Given the description of an element on the screen output the (x, y) to click on. 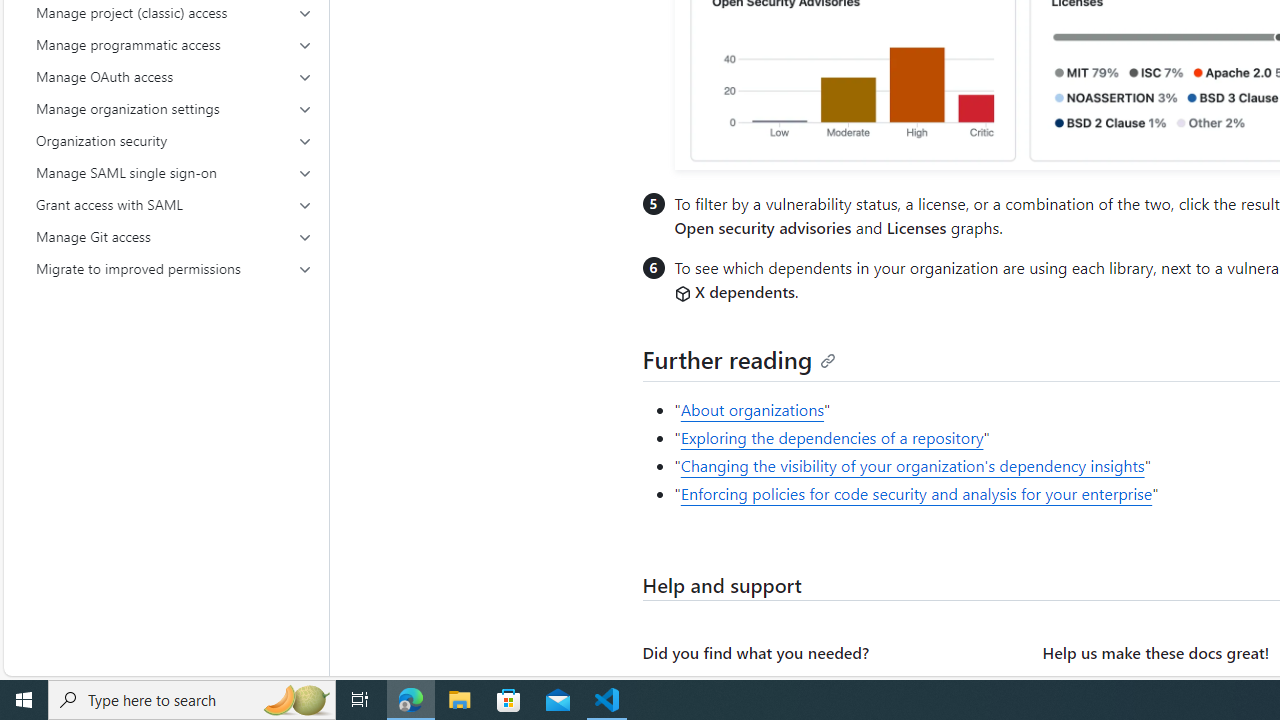
Manage organization settings (174, 108)
Manage programmatic access (174, 44)
Manage SAML single sign-on (174, 172)
Grant access with SAML (174, 204)
